Given the description of an element on the screen output the (x, y) to click on. 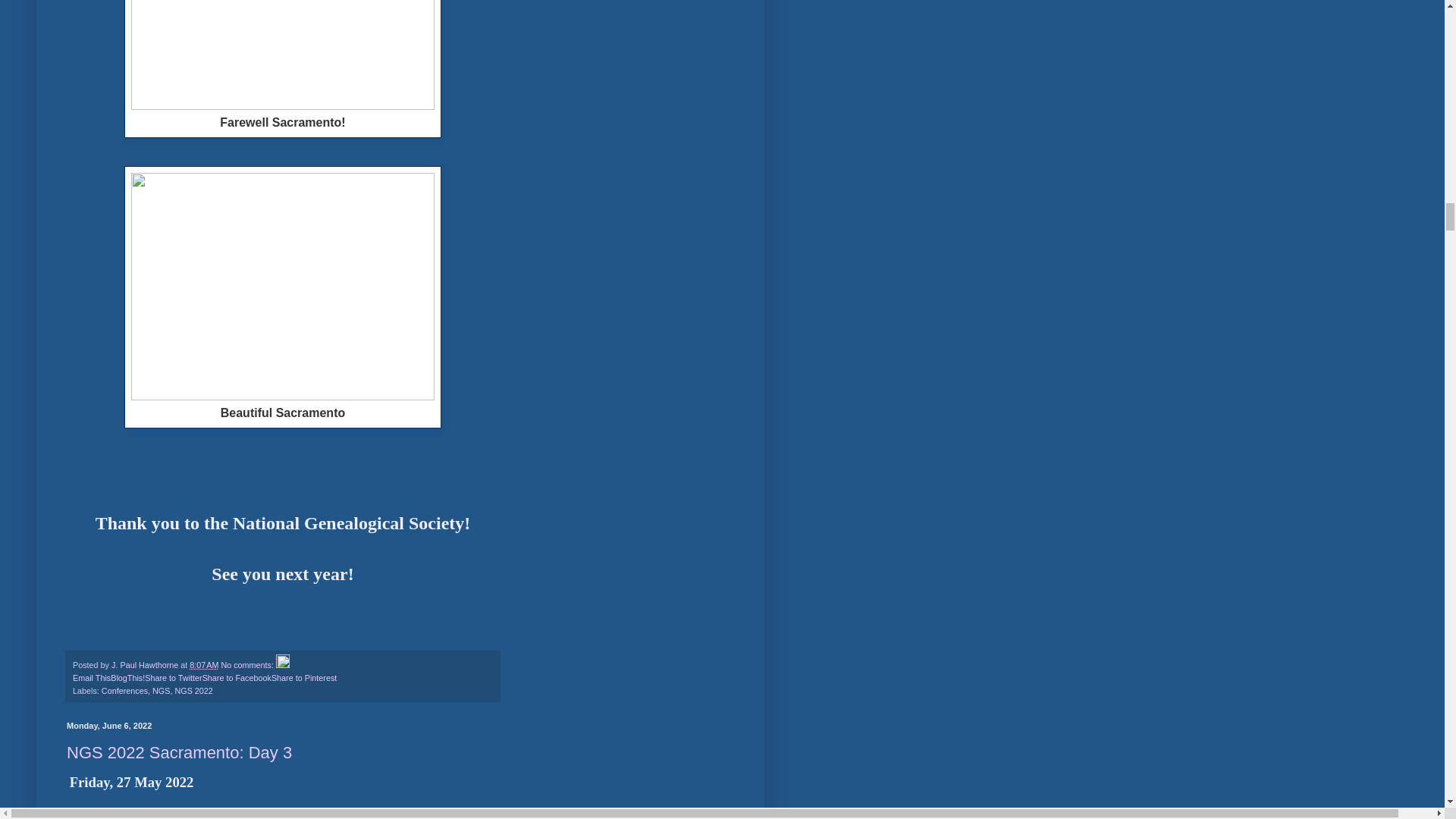
Conferences (124, 690)
NGS 2022 (193, 690)
Share to Pinterest (303, 677)
Email This (91, 677)
Share to Facebook (236, 677)
Edit Post (282, 664)
permanent link (203, 664)
Email This (91, 677)
NGS 2022 Sacramento: Day 3 (179, 752)
BlogThis! (127, 677)
